Given the description of an element on the screen output the (x, y) to click on. 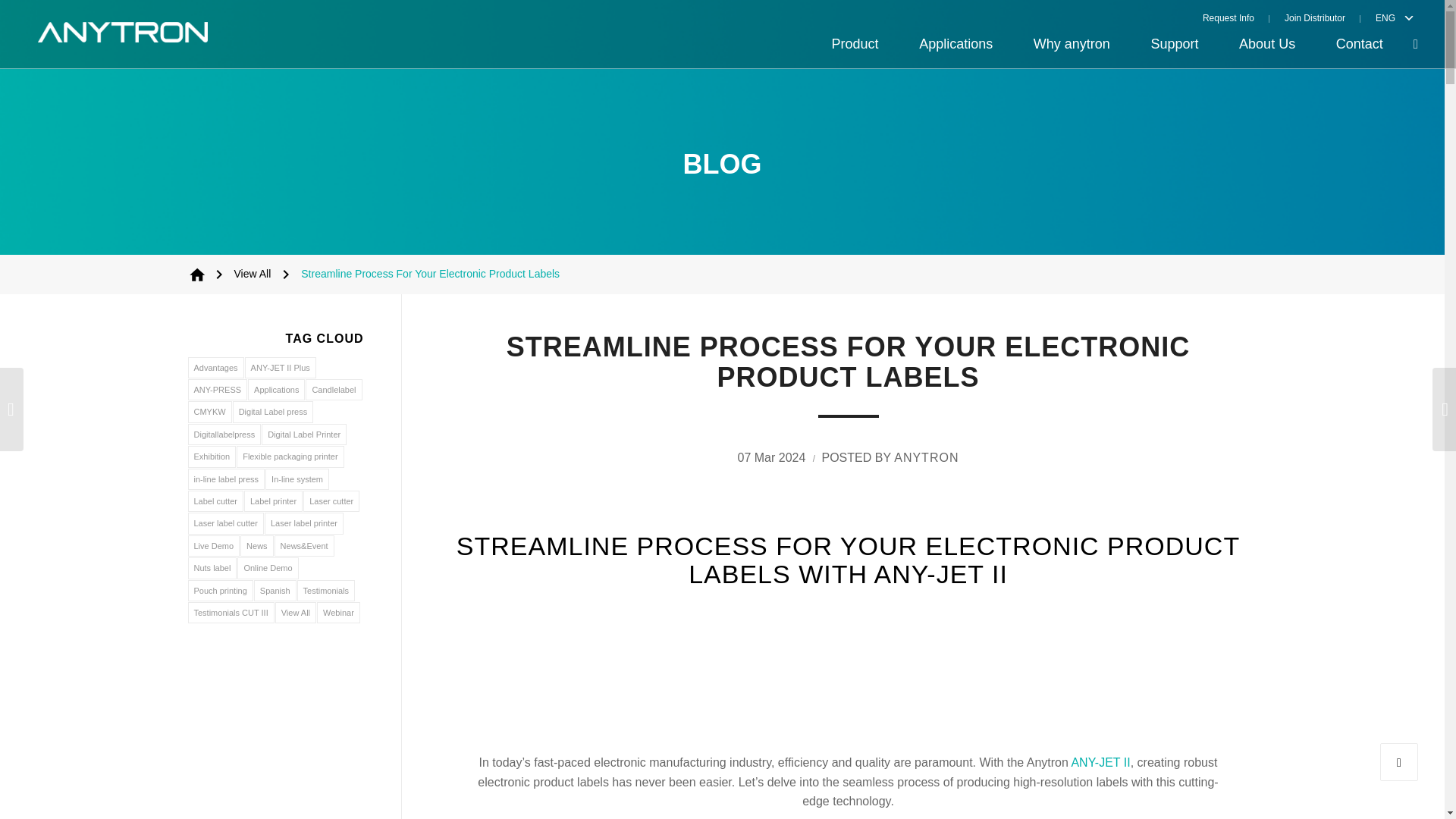
Scroll to top (1399, 761)
Join Distributor (1314, 17)
Anytron - Digital Print Pro (196, 274)
ENG (1381, 17)
Request Info (1235, 17)
Applications (955, 44)
Product (855, 44)
